Given the description of an element on the screen output the (x, y) to click on. 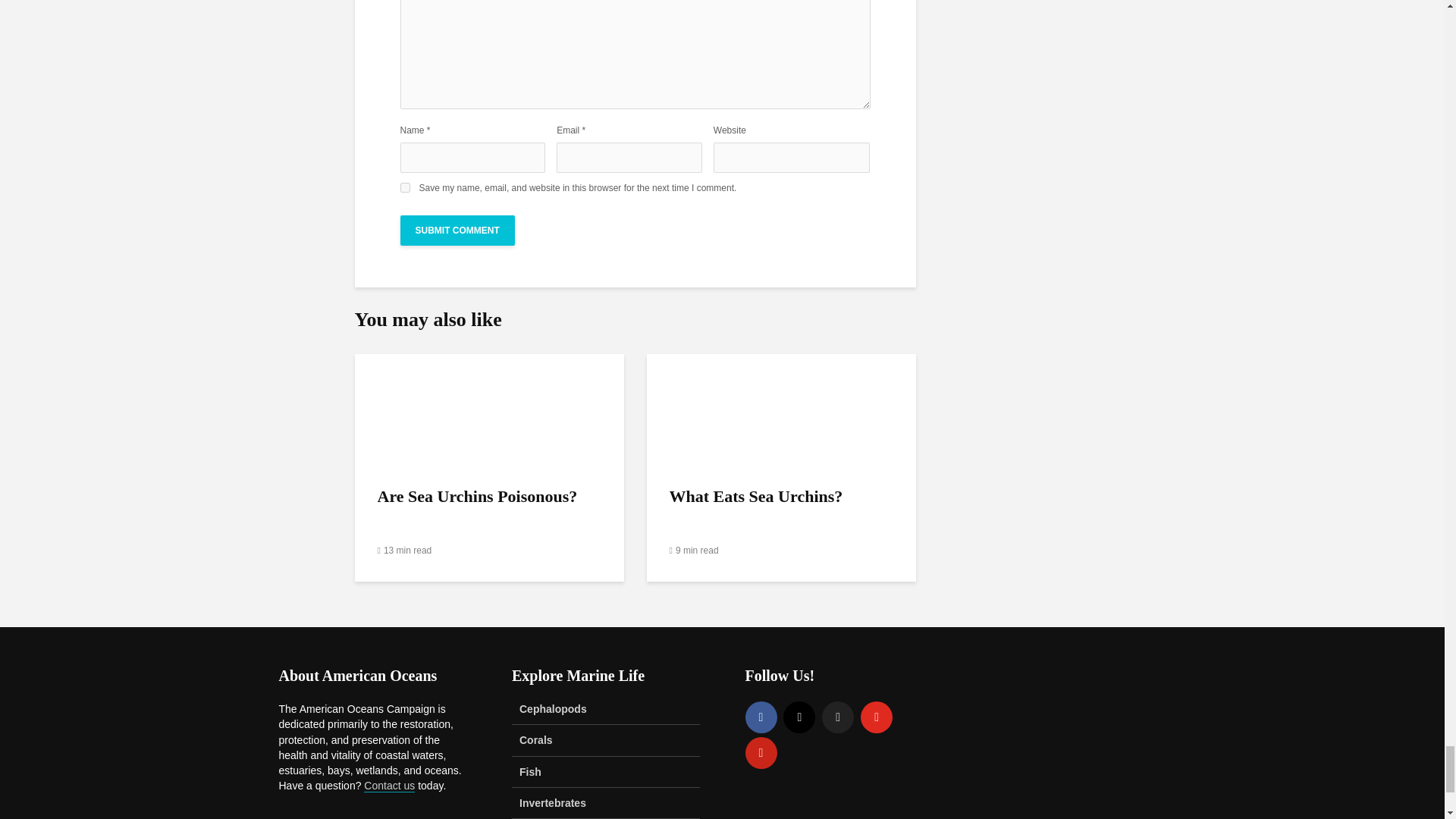
Submit Comment (457, 230)
What Eats Sea Urchins? (780, 409)
yes (405, 187)
Are Sea Urchins Poisonous? (489, 409)
